Given the description of an element on the screen output the (x, y) to click on. 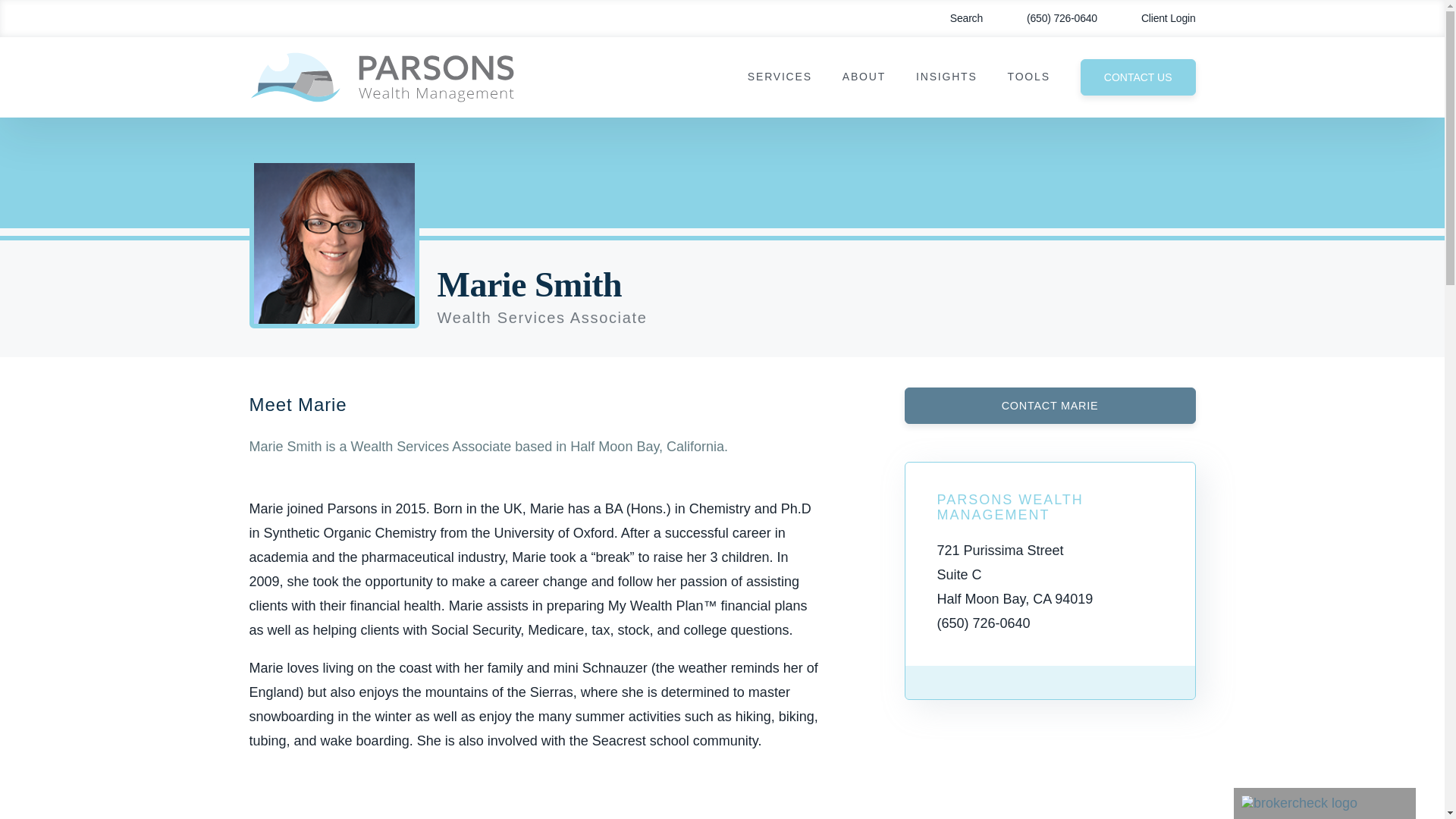
Search (955, 18)
ABOUT (864, 77)
INSIGHTS (945, 77)
SERVICES (780, 77)
CONTACT US (1137, 76)
Client Login (1157, 18)
TOOLS (1028, 77)
